Given the description of an element on the screen output the (x, y) to click on. 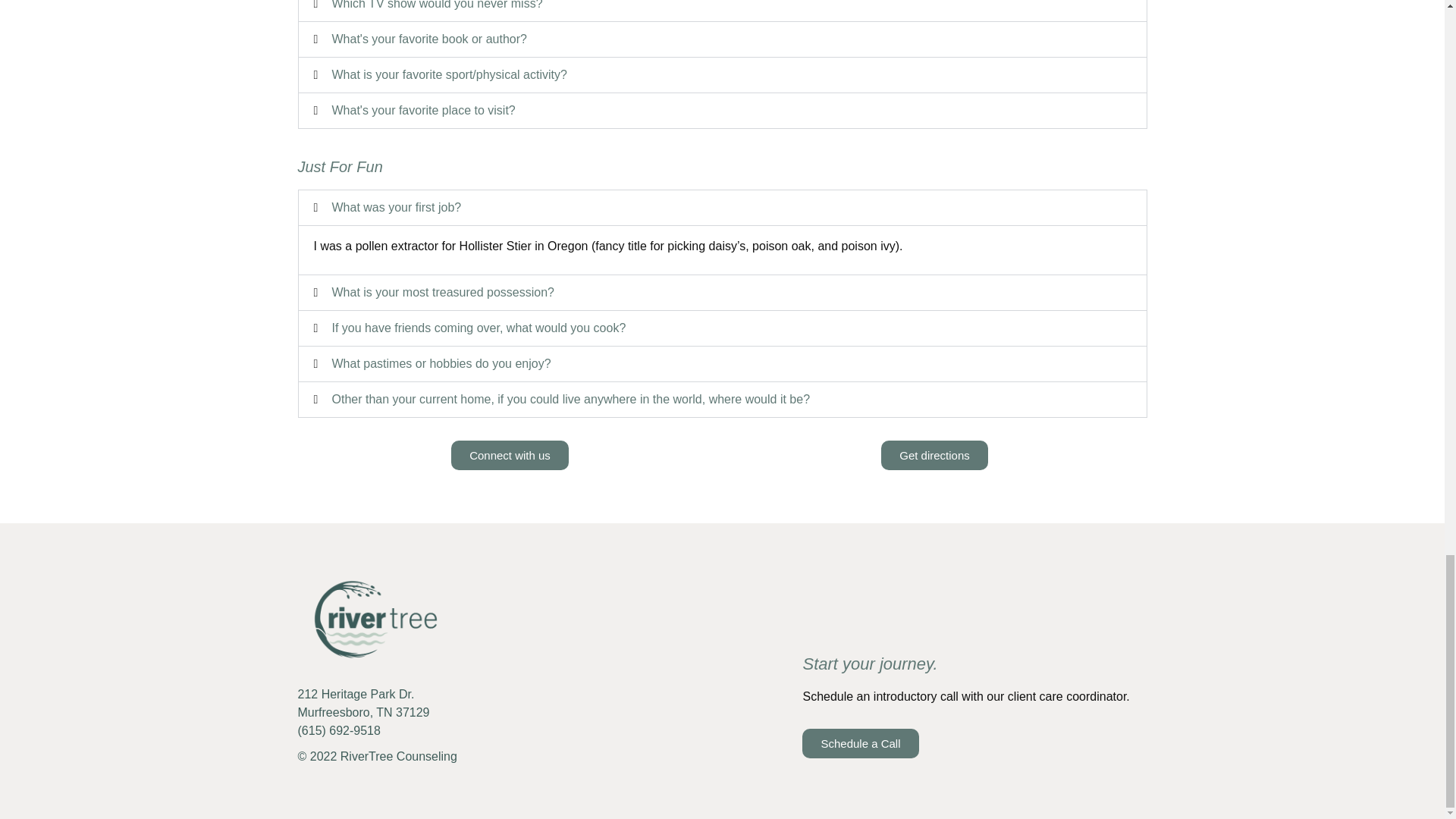
Get directions (934, 455)
What was your first job? (396, 206)
Connect with us (510, 455)
What pastimes or hobbies do you enjoy? (441, 363)
If you have friends coming over, what would you cook? (478, 327)
What is your most treasured possession? (442, 291)
Schedule a Call (860, 743)
Which TV show would you never miss? (437, 4)
What's your favorite book or author? (429, 38)
What's your favorite place to visit? (423, 110)
